Given the description of an element on the screen output the (x, y) to click on. 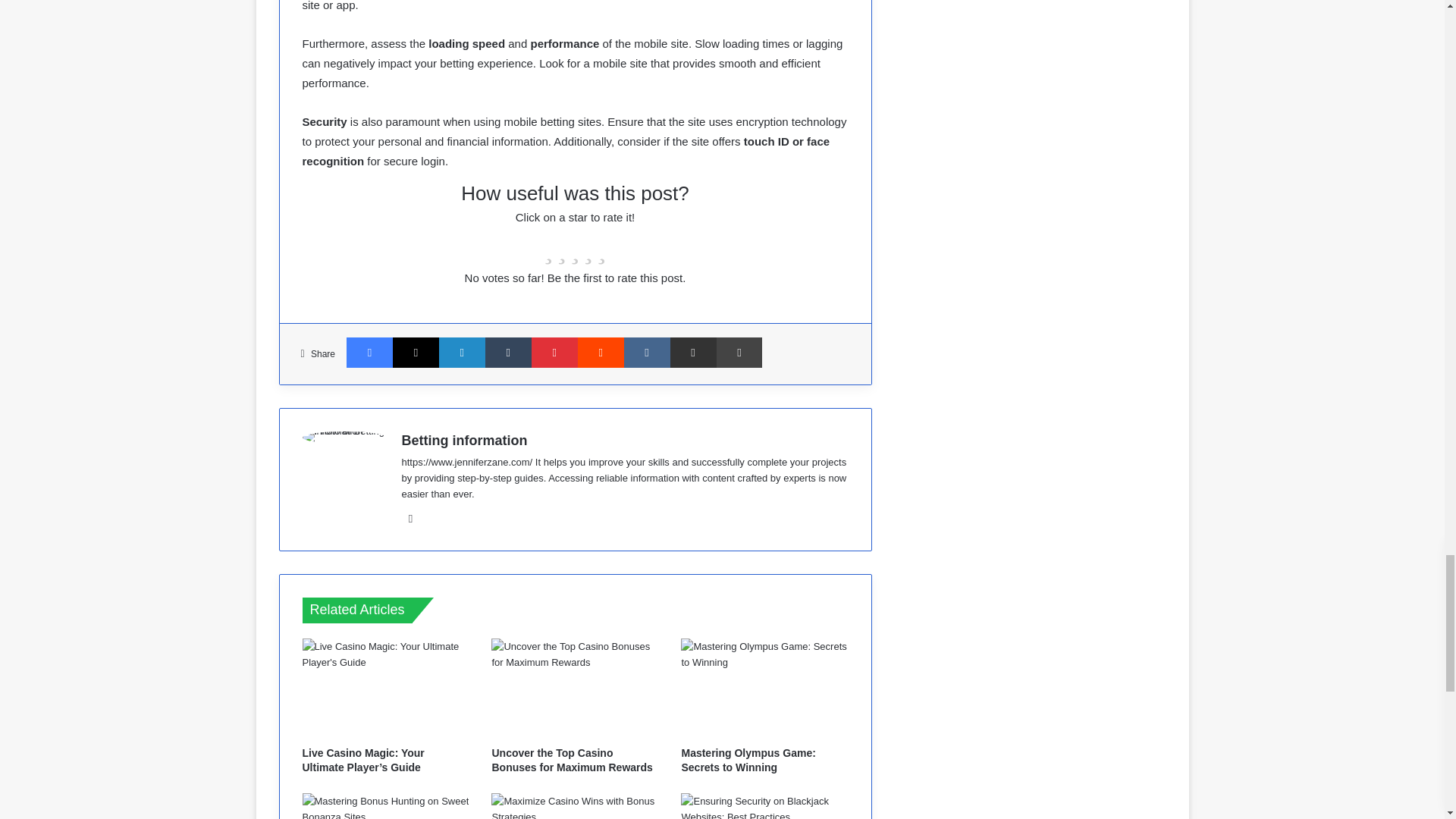
VKontakte (646, 352)
Facebook (369, 352)
X (416, 352)
Print (738, 352)
Share via Email (692, 352)
LinkedIn (461, 352)
Reddit (601, 352)
LinkedIn (461, 352)
Betting information (464, 440)
Facebook (369, 352)
Website (410, 518)
Share via Email (692, 352)
VKontakte (646, 352)
Tumblr (507, 352)
Pinterest (554, 352)
